Given the description of an element on the screen output the (x, y) to click on. 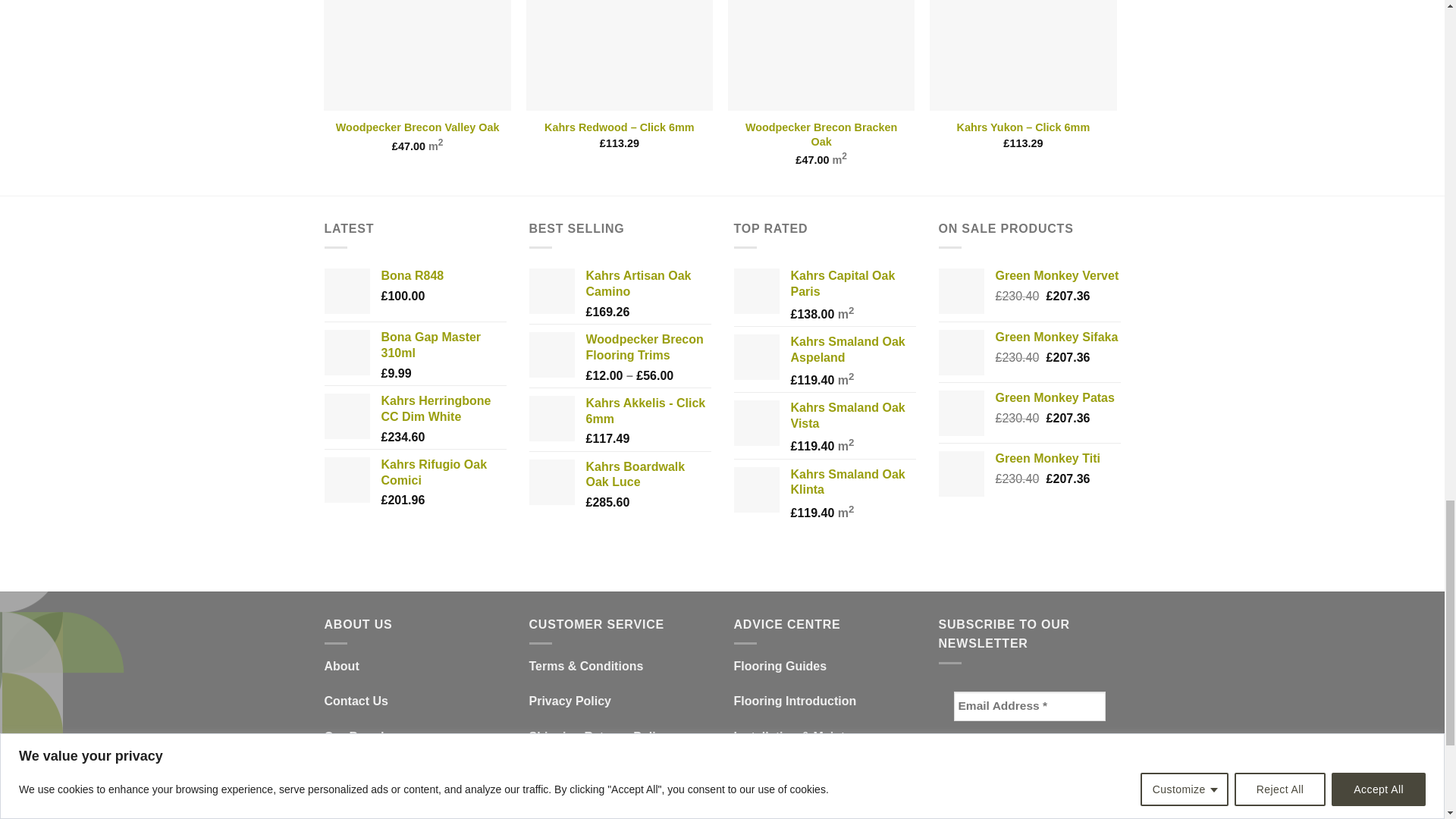
Subscribe! (1029, 754)
